Given the description of an element on the screen output the (x, y) to click on. 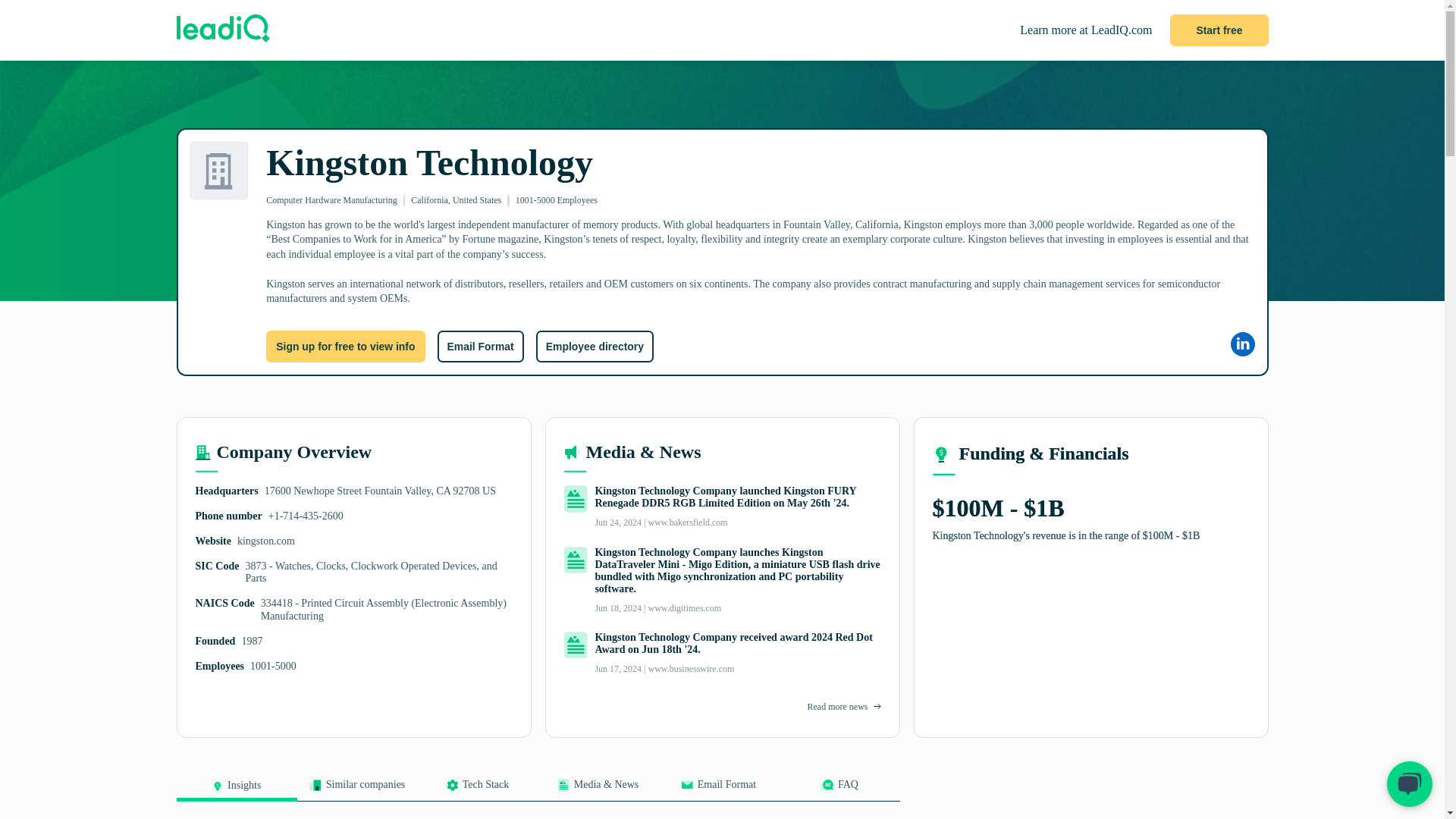
kingston.com (266, 541)
Tech Stack (476, 789)
Learn more at LeadIQ.com (1085, 29)
FAQ (838, 789)
Sign up for free to view info (345, 346)
Employee directory (594, 346)
Start free (1219, 29)
Email Format (718, 789)
Similar companies (357, 789)
Insights (236, 790)
Email Format (479, 346)
